Given the description of an element on the screen output the (x, y) to click on. 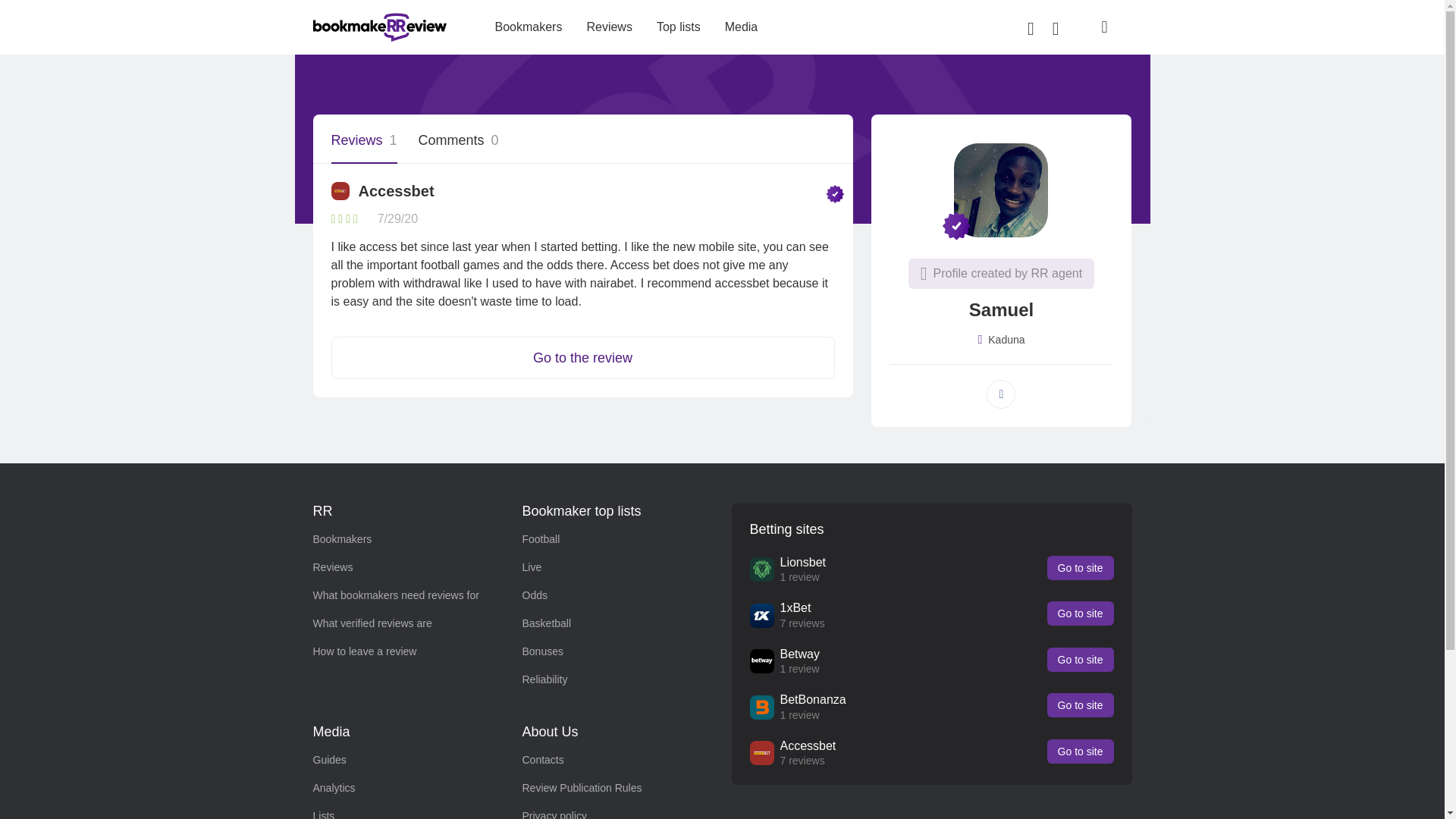
Go to the review (582, 357)
Bookmakers (528, 27)
What verified reviews are (371, 623)
Bookmakers (342, 539)
Reviews (332, 567)
How to leave a review (364, 651)
What bookmakers need reviews for (396, 594)
